Given the description of an element on the screen output the (x, y) to click on. 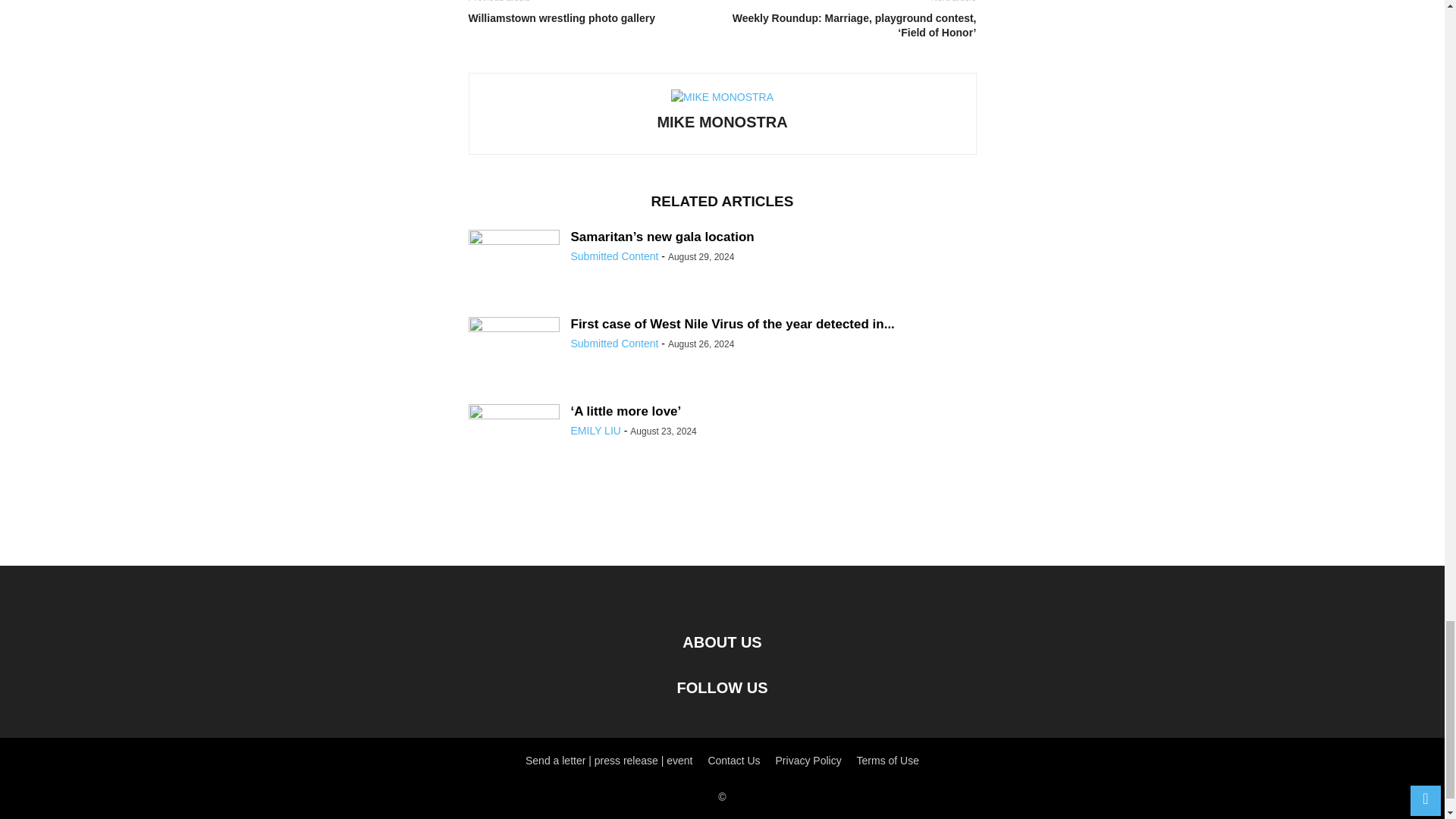
Williamstown wrestling photo gallery (591, 18)
Terms of Use (887, 760)
Privacy Policy (808, 760)
Submitted Content (614, 256)
Submitted Content (614, 343)
First case of West Nile Virus of the year detected in... (731, 323)
MIKE MONOSTRA (721, 121)
EMILY LIU (595, 430)
